Given the description of an element on the screen output the (x, y) to click on. 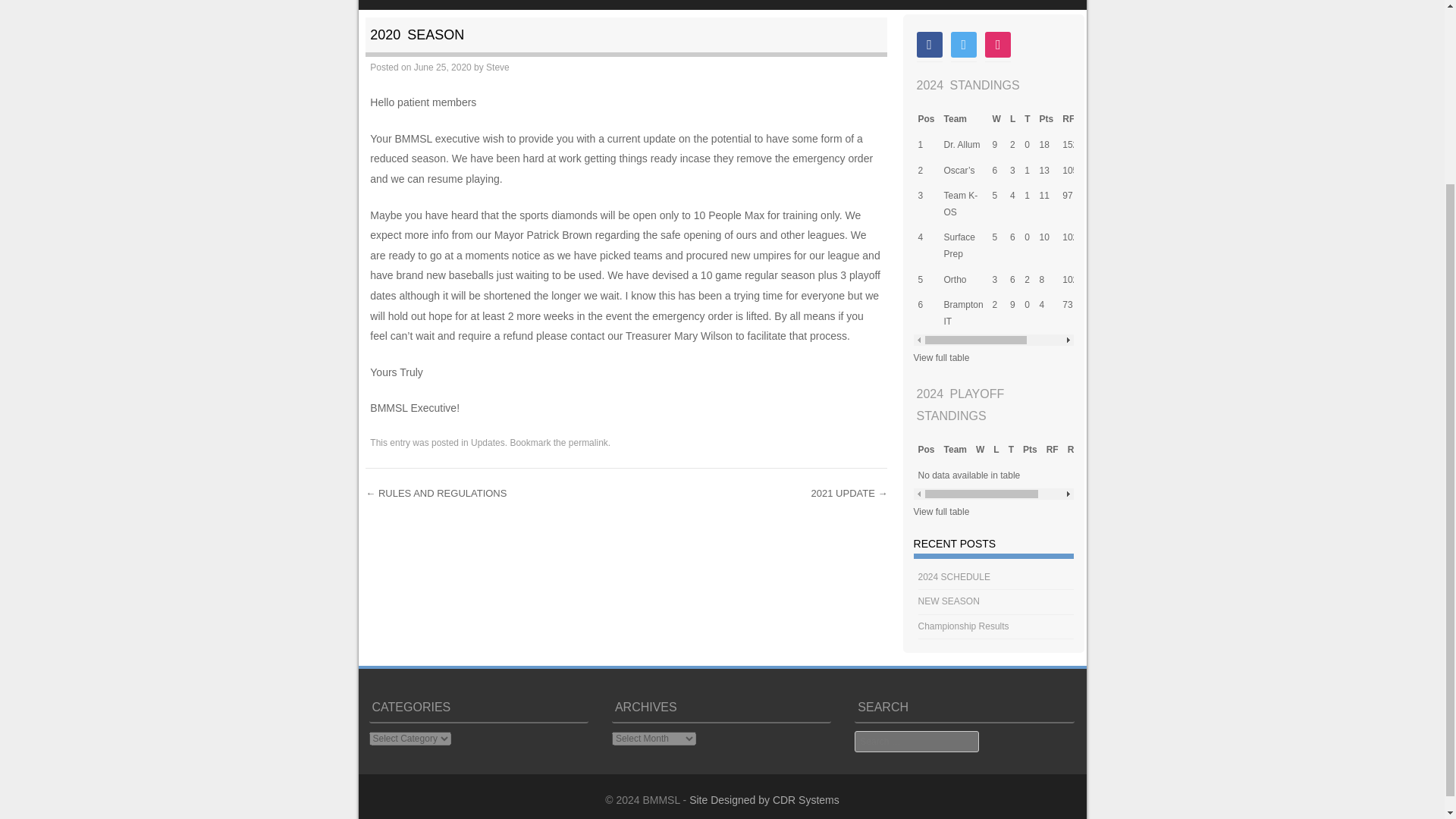
Dr. Allum (961, 144)
Team K-OS (960, 203)
twitter (963, 43)
Site Designed by CDR Systems (764, 799)
instagram (997, 43)
View full table (941, 511)
permalink (588, 442)
Championship Results (963, 625)
Ortho (954, 279)
Surface Prep (959, 245)
View full table (941, 357)
TEAM PHOTOS (665, 4)
CONTACT US (768, 4)
NEW SEASON (948, 601)
Instagram (997, 43)
